Given the description of an element on the screen output the (x, y) to click on. 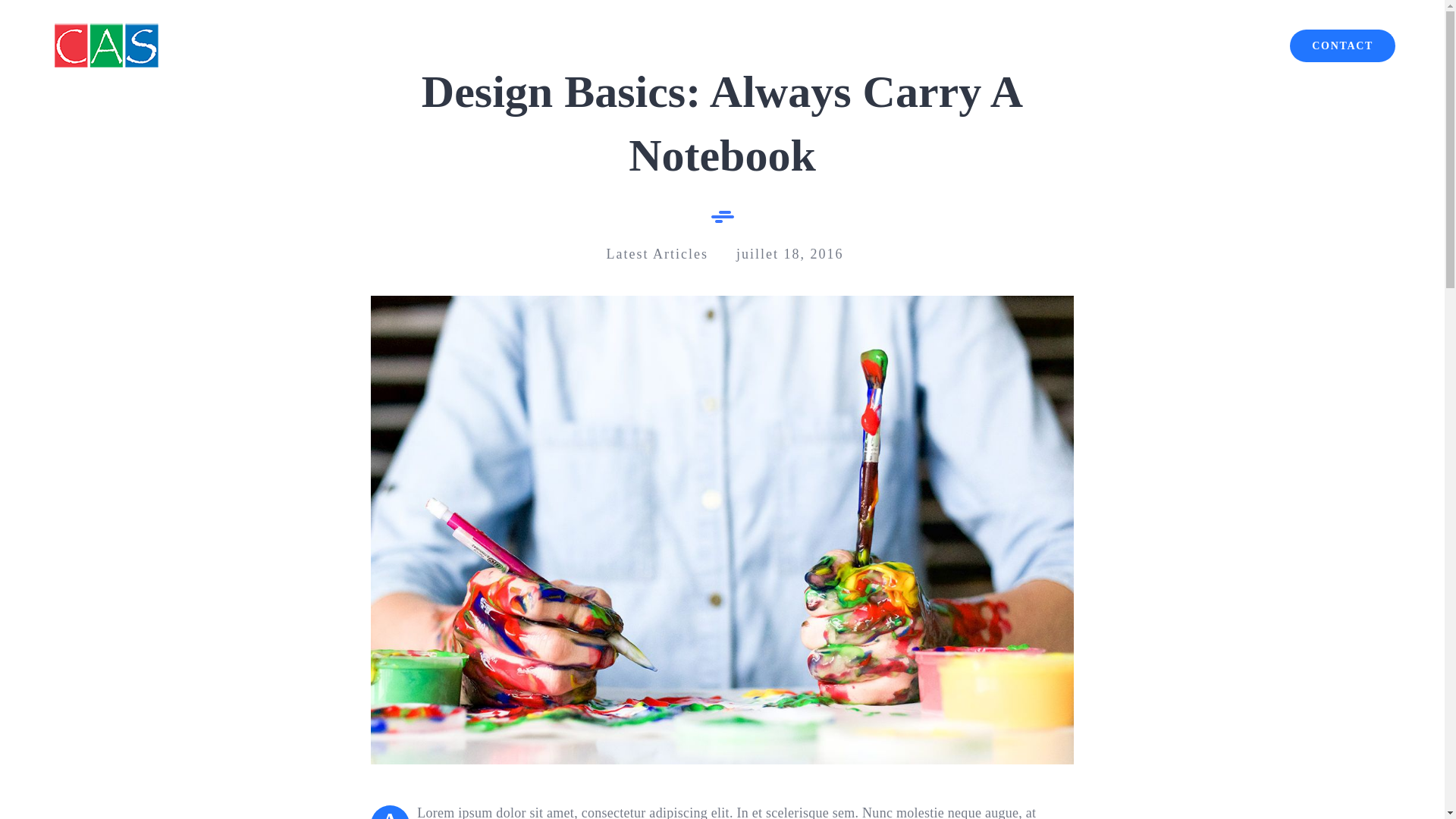
ABOUT Element type: text (1228, 45)
HOME Element type: text (1146, 45)
CONTACT Element type: text (1342, 45)
